Given the description of an element on the screen output the (x, y) to click on. 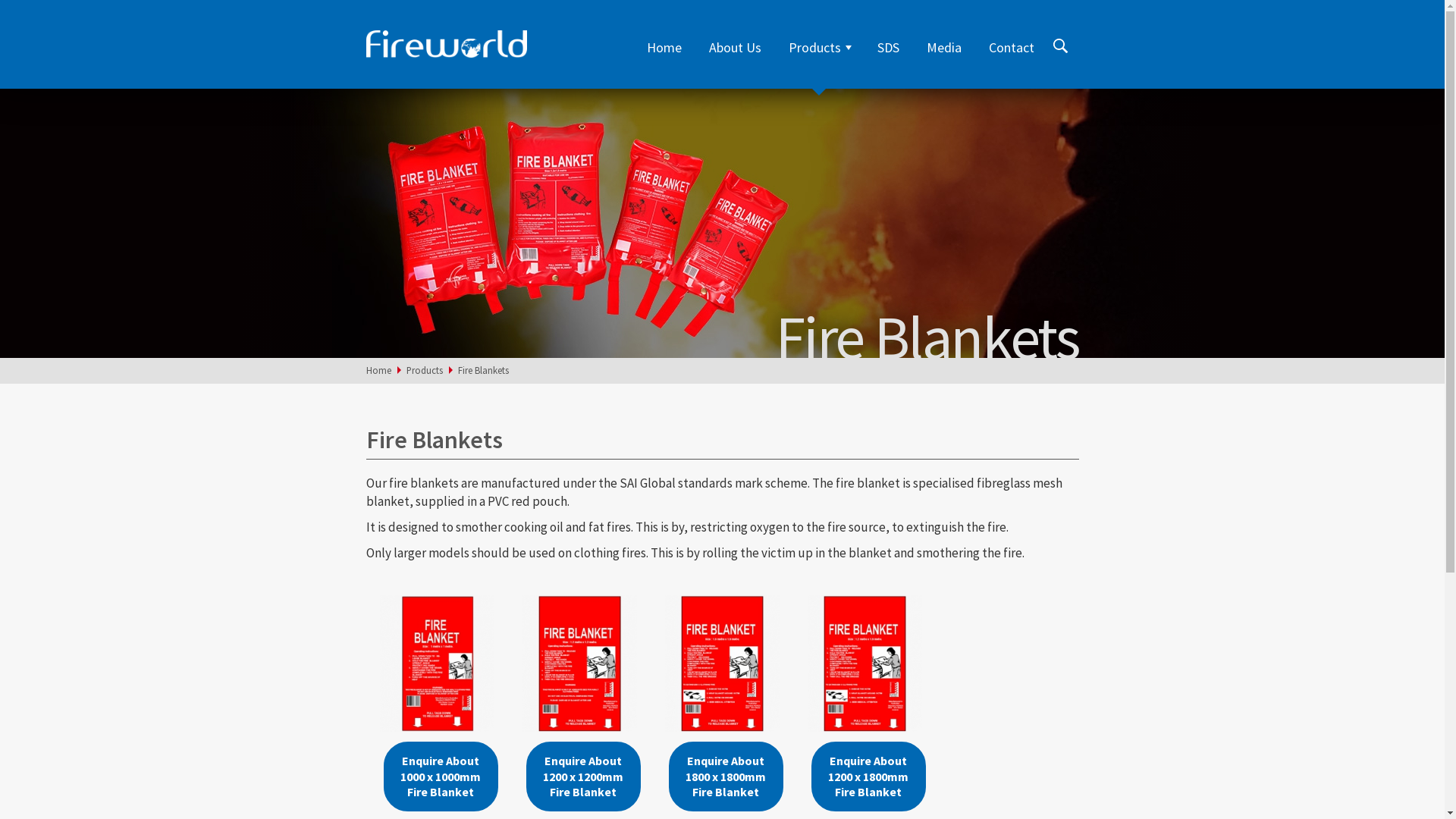
Enquire About 1800 x 1800mm Fire Blanket Element type: text (725, 776)
Enquire About 1200 x 1200mm Fire Blanket Element type: text (583, 776)
Products Element type: text (424, 370)
About Us Element type: text (734, 46)
Contact Element type: text (1006, 46)
Home Element type: text (377, 370)
Enquire About 1000 x 1000mm Fire Blanket Element type: text (440, 776)
Home Element type: text (663, 46)
SDS Element type: text (887, 46)
Media Element type: text (943, 46)
Enquire About 1200 x 1800mm Fire Blanket Element type: text (868, 776)
Products Element type: text (819, 46)
